Given the description of an element on the screen output the (x, y) to click on. 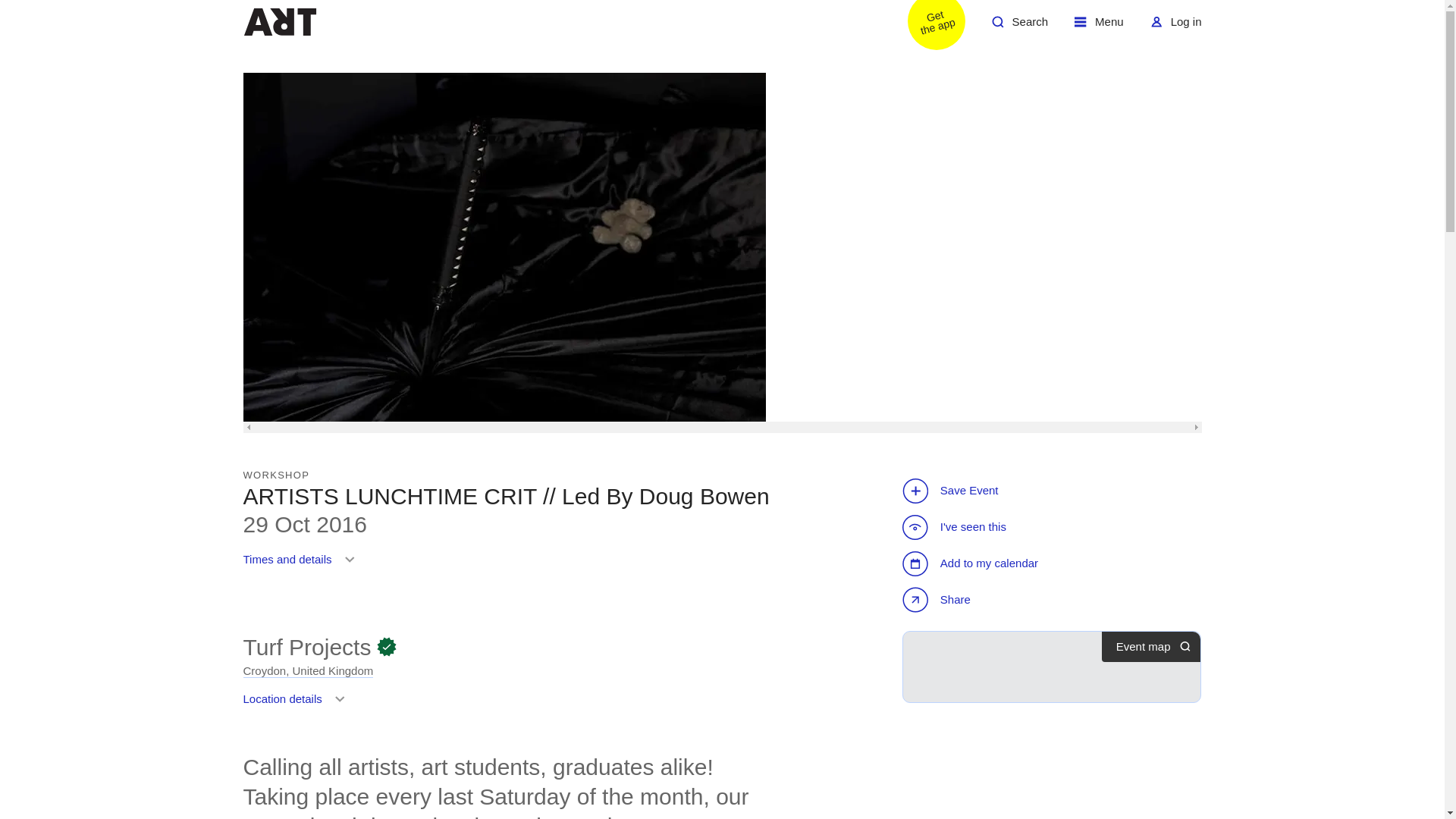
Add to my calendar (1019, 26)
Welcome to ArtRabbit (297, 704)
Share (972, 563)
Turf Projects (279, 22)
Croydon, United Kingdom (926, 27)
